Given the description of an element on the screen output the (x, y) to click on. 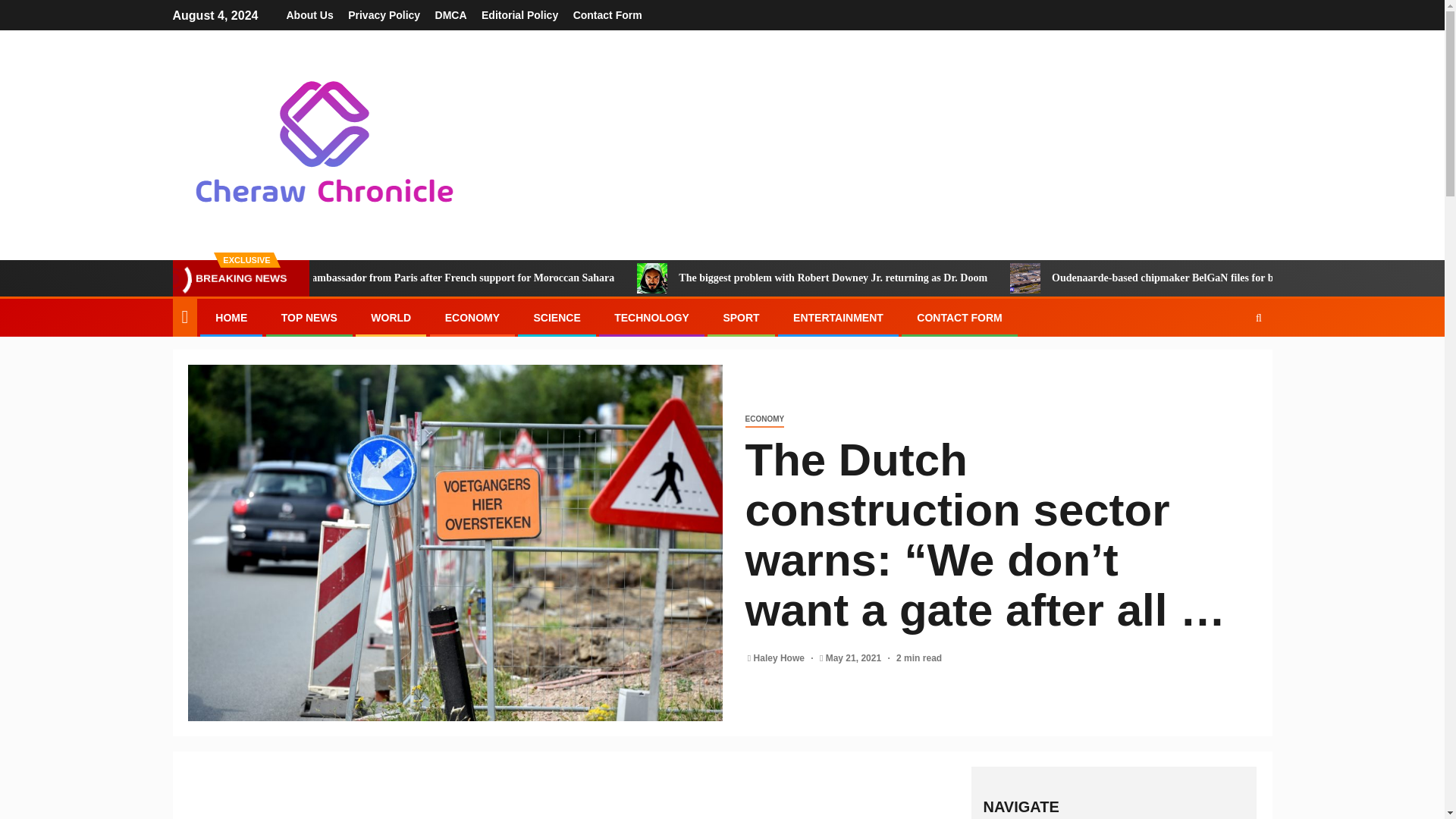
SCIENCE (555, 317)
WORLD (390, 317)
Contact Form (607, 15)
Haley Howe (781, 657)
SPORT (740, 317)
TECHNOLOGY (651, 317)
Advertisement (574, 802)
ENTERTAINMENT (838, 317)
ECONOMY (472, 317)
CONTACT FORM (960, 317)
DMCA (451, 15)
TOP NEWS (309, 317)
About Us (309, 15)
